Given the description of an element on the screen output the (x, y) to click on. 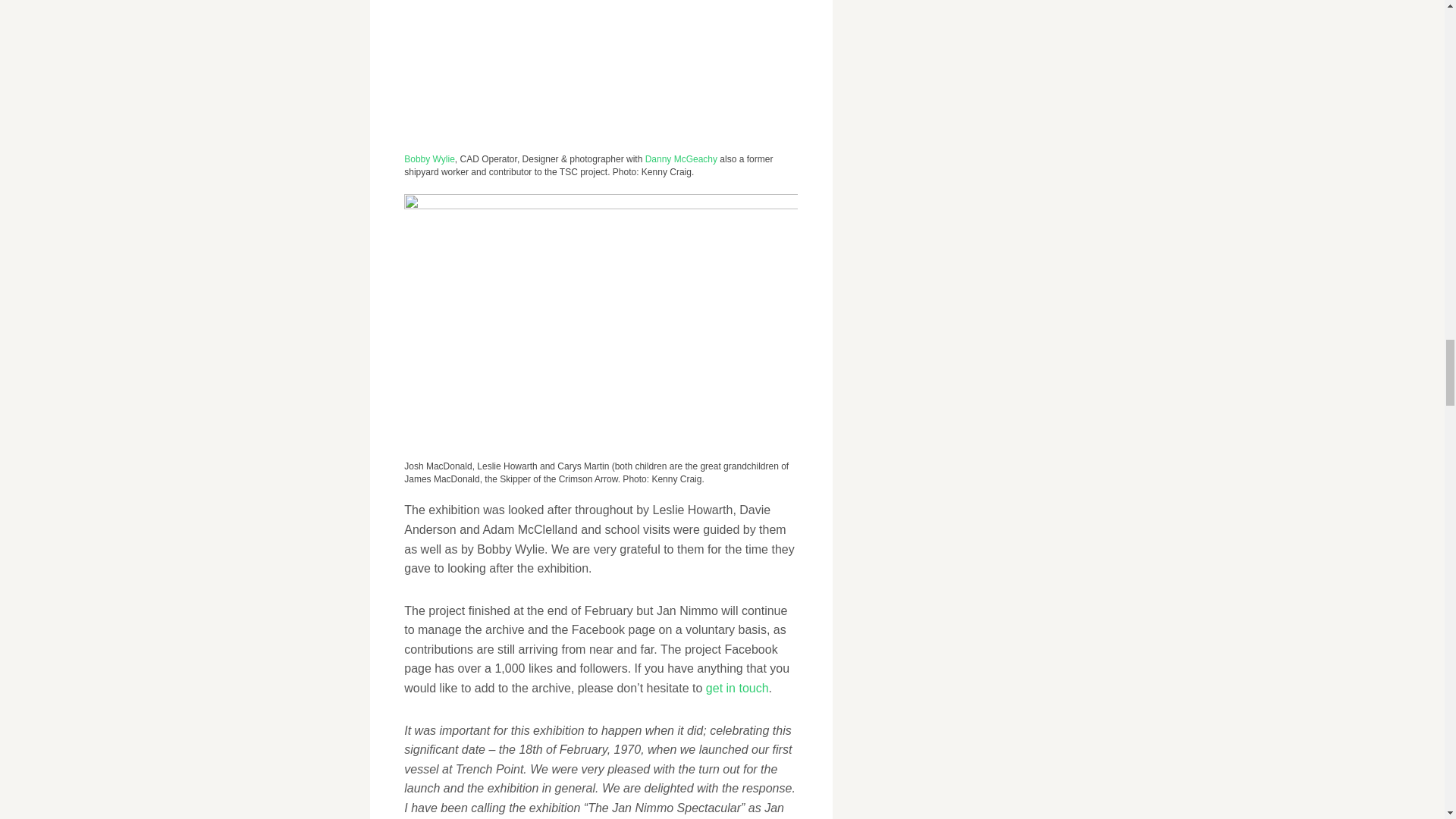
Bobby Wylie (429, 158)
get in touch (737, 687)
Danny McGeachy (681, 158)
